Given the description of an element on the screen output the (x, y) to click on. 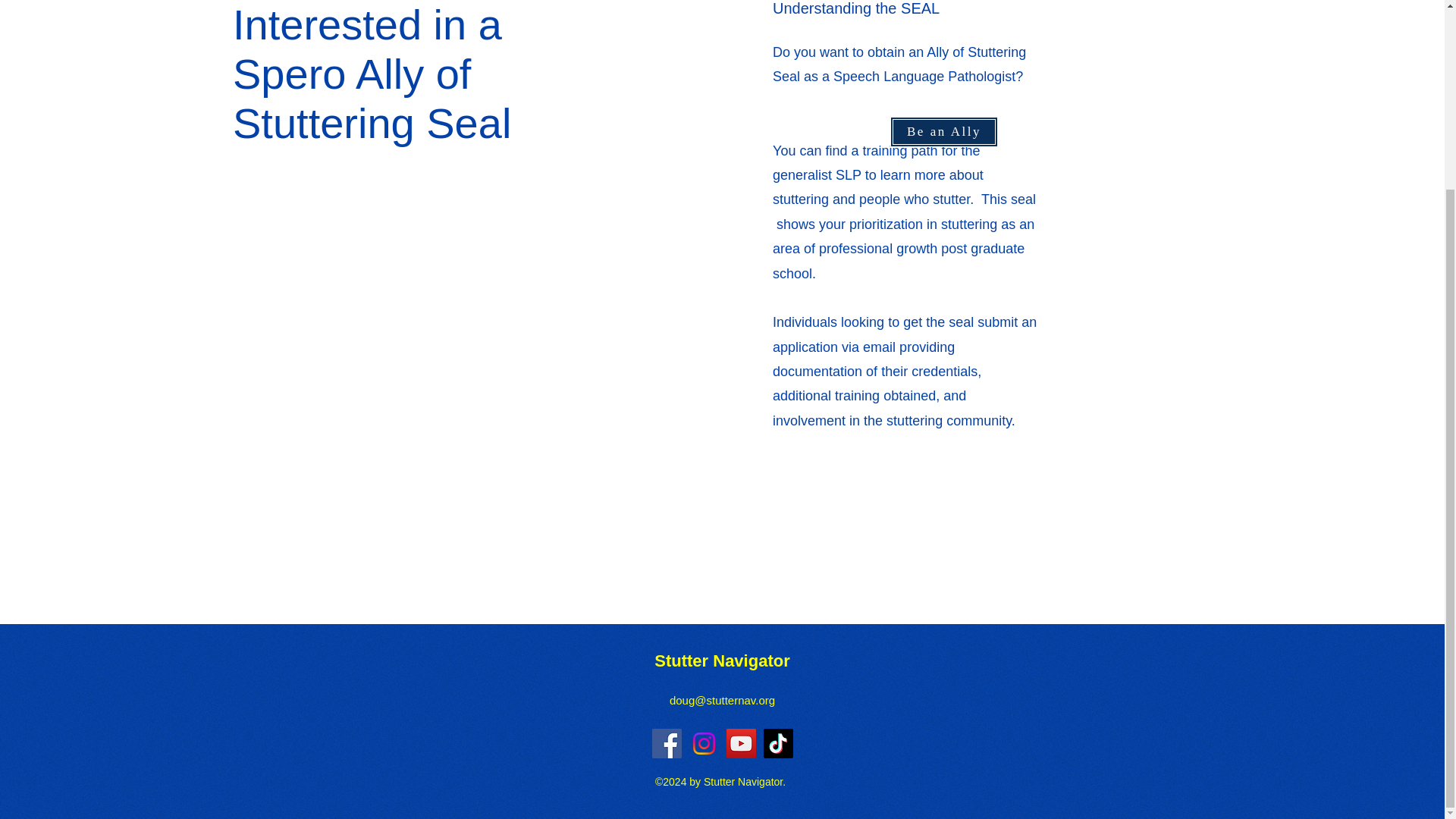
Be an Ally (943, 132)
